Given the description of an element on the screen output the (x, y) to click on. 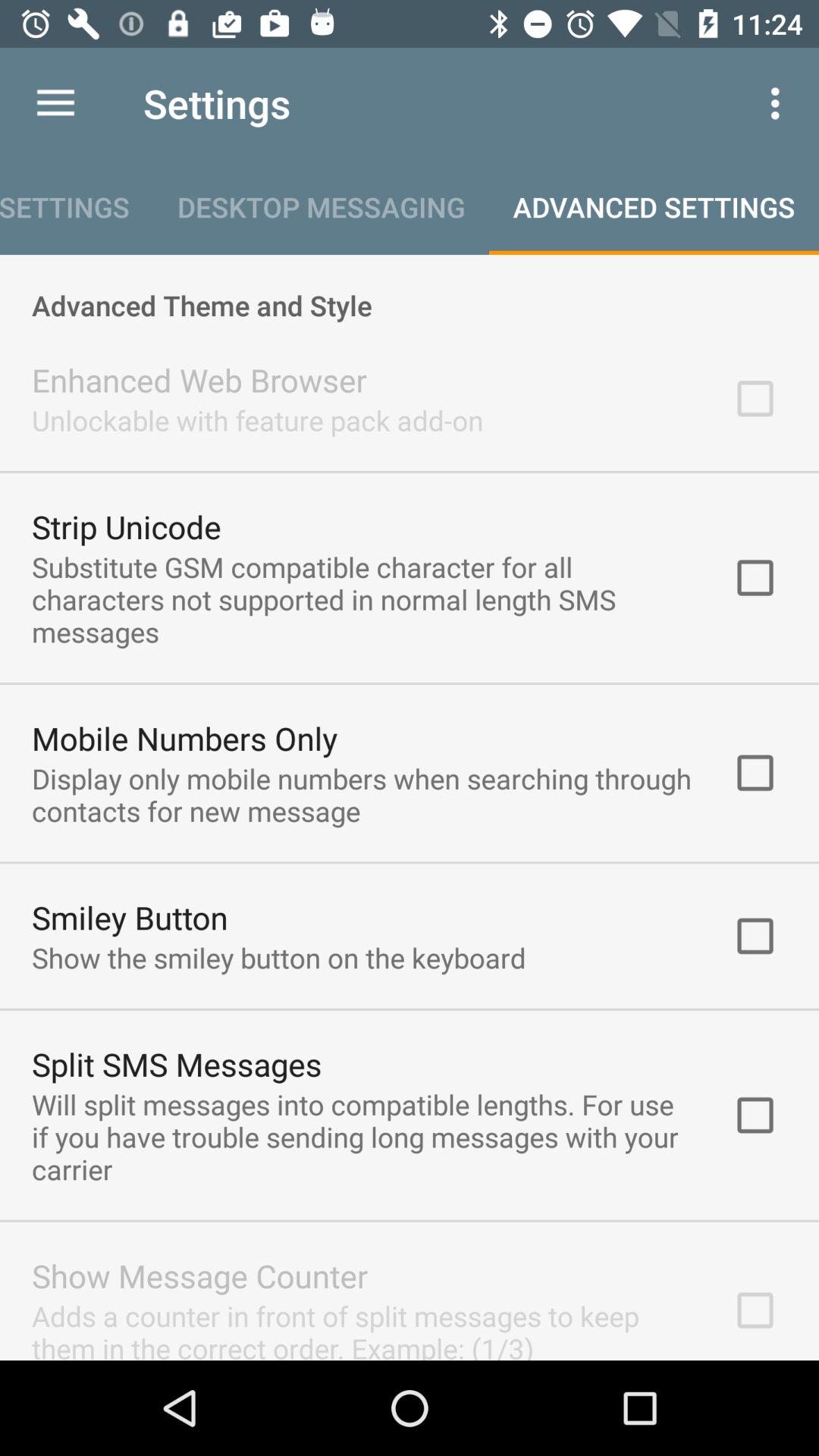
flip to the adds a counter icon (361, 1328)
